Given the description of an element on the screen output the (x, y) to click on. 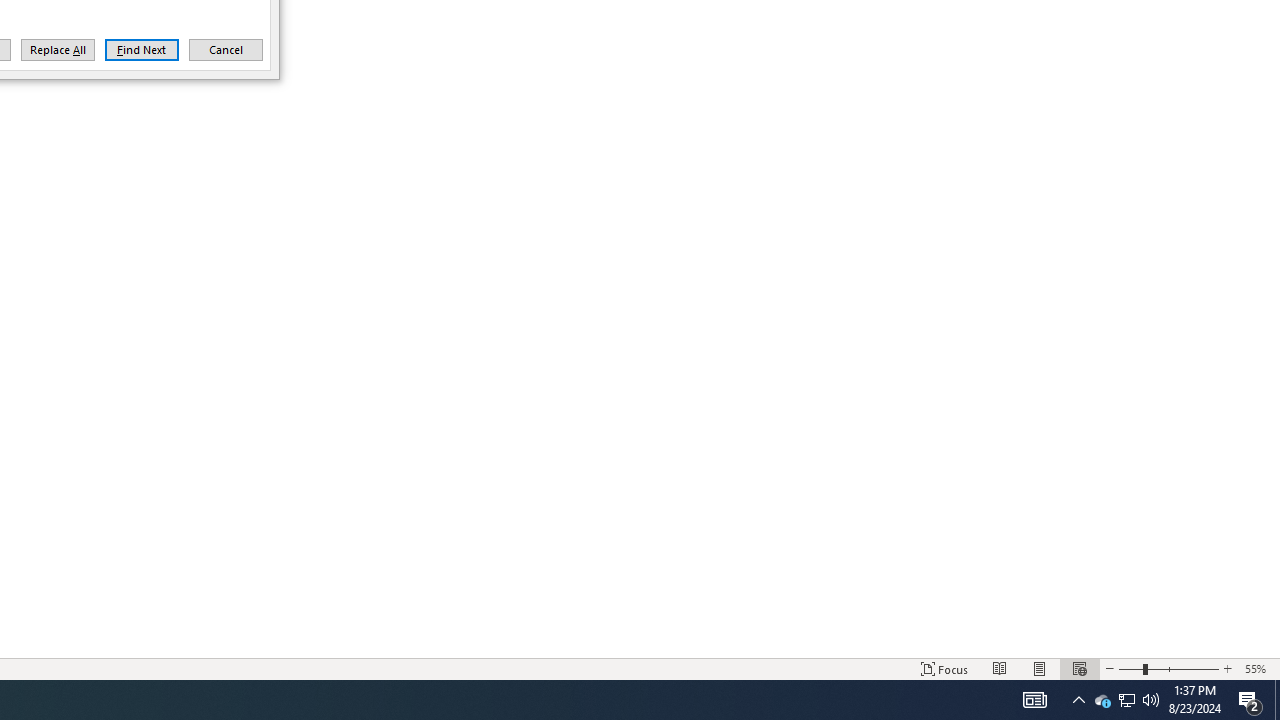
Zoom (1168, 668)
Web Layout (1079, 668)
Print Layout (1039, 668)
Focus  (944, 668)
Read Mode (1000, 668)
Zoom Out (1130, 668)
Zoom 55% (1258, 668)
Zoom In (1227, 668)
